Given the description of an element on the screen output the (x, y) to click on. 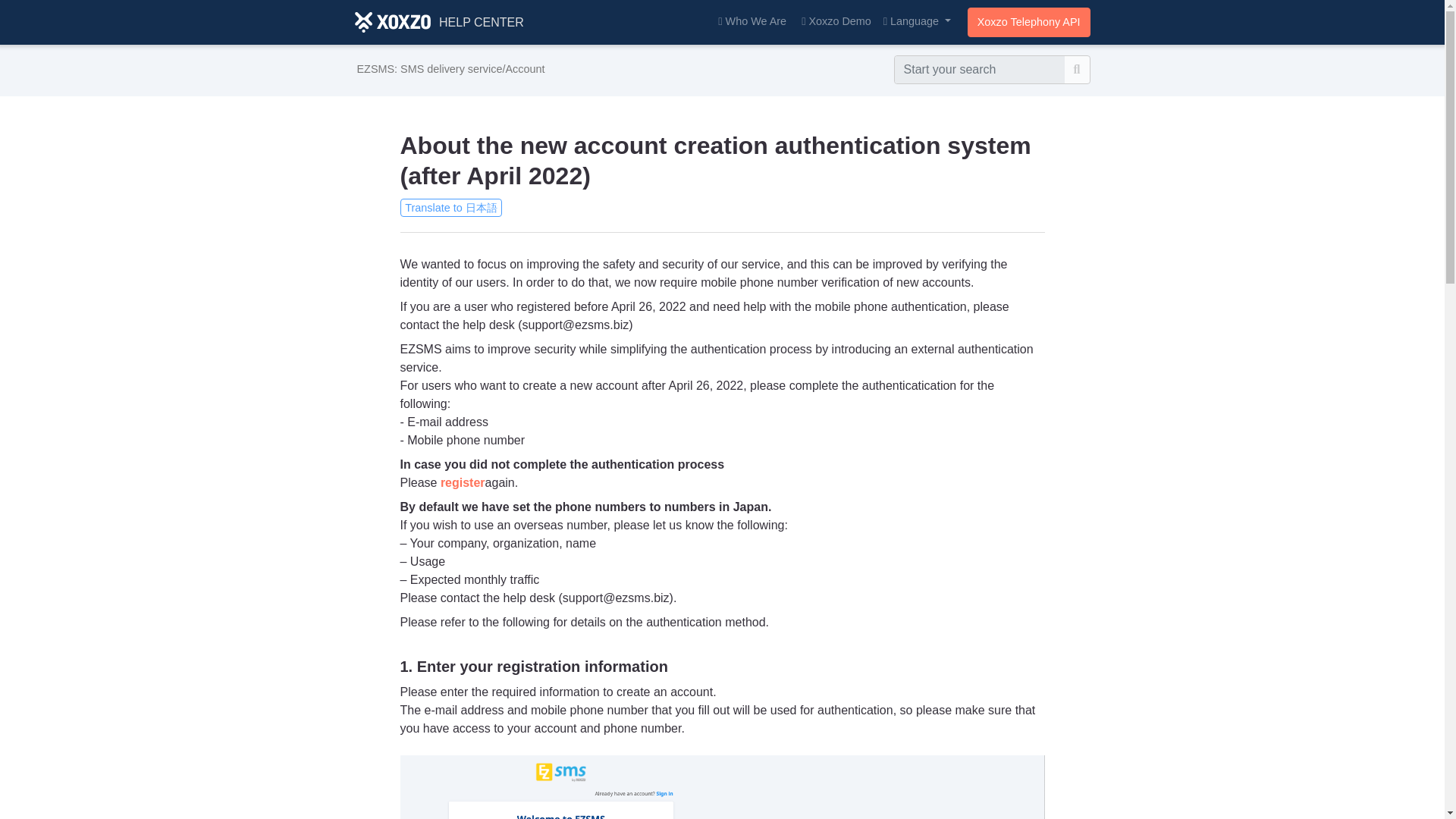
register (462, 481)
Xoxzo Telephony API (1029, 22)
Who We Are (751, 21)
Xoxzo Demo (835, 21)
Language (916, 21)
HELP CENTER (439, 21)
